Given the description of an element on the screen output the (x, y) to click on. 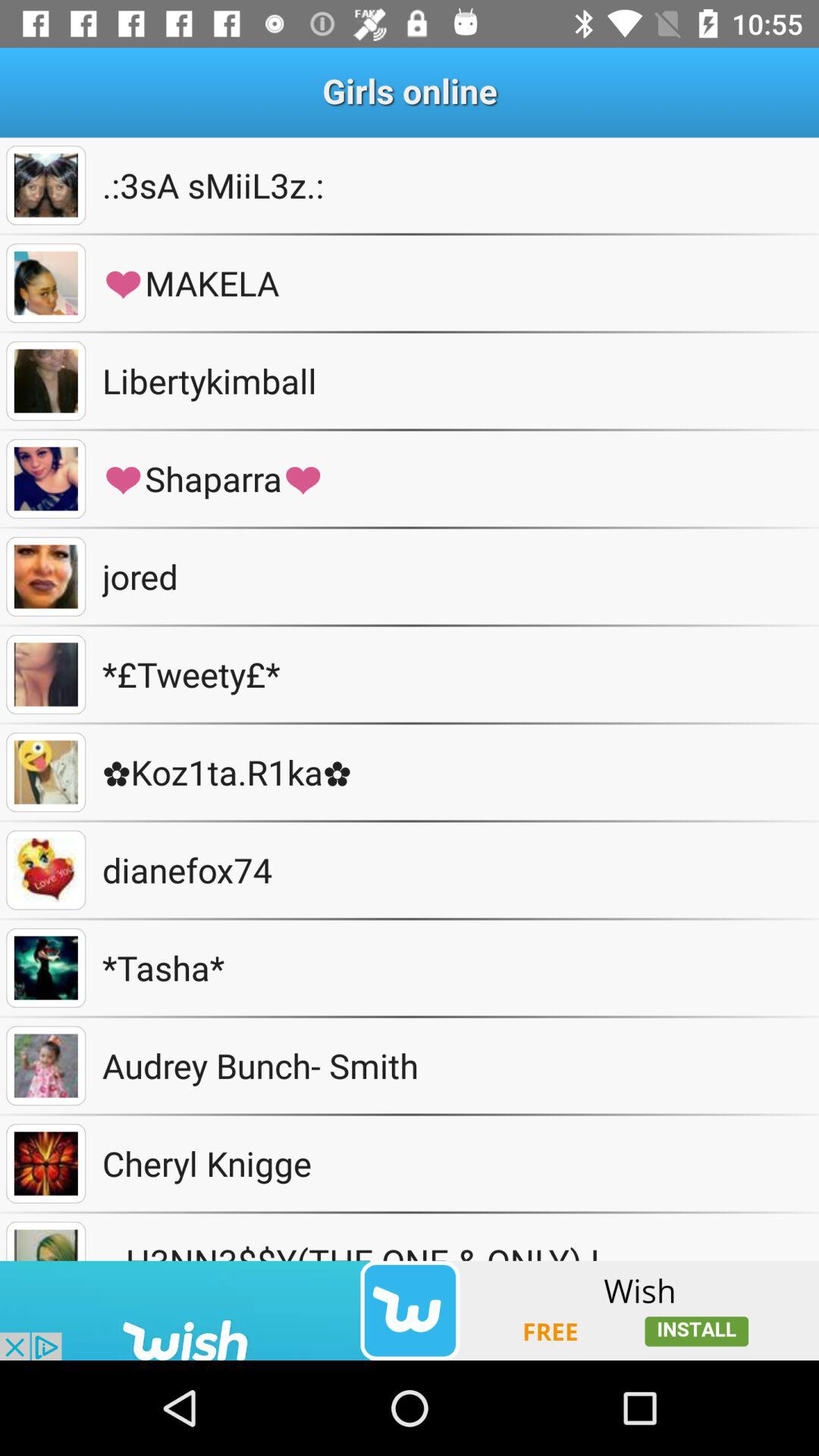
select contact (45, 185)
